Given the description of an element on the screen output the (x, y) to click on. 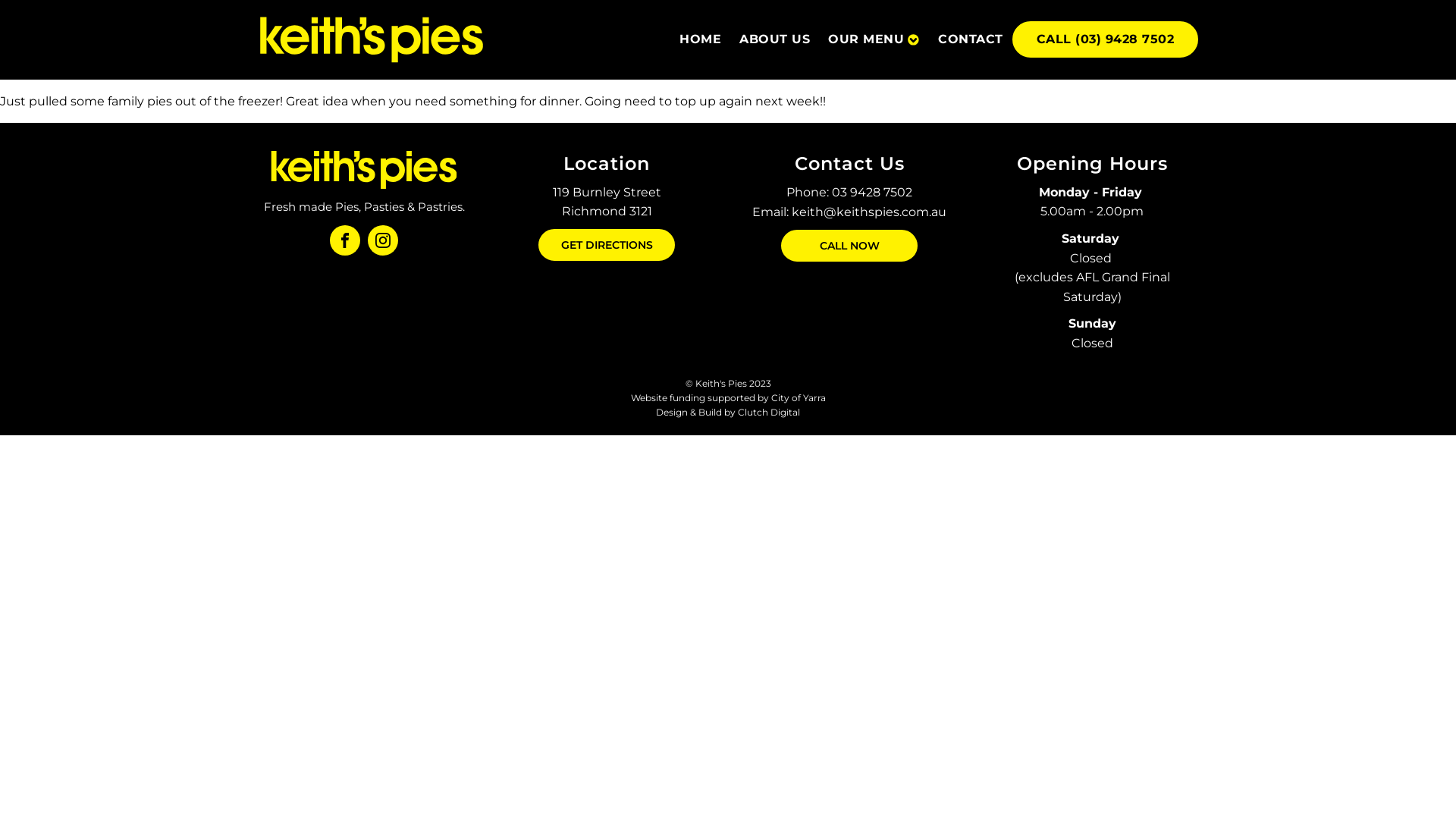
OUR MENU Element type: text (873, 39)
HOME Element type: text (700, 39)
CALL NOW Element type: text (849, 245)
GET DIRECTIONS Element type: text (606, 244)
Email: keith@keithspies.com.au Element type: text (849, 212)
CONTACT Element type: text (970, 39)
CALL (03) 9428 7502 Element type: text (1104, 39)
ABOUT US Element type: text (774, 39)
Clutch Digital Element type: text (768, 411)
